Given the description of an element on the screen output the (x, y) to click on. 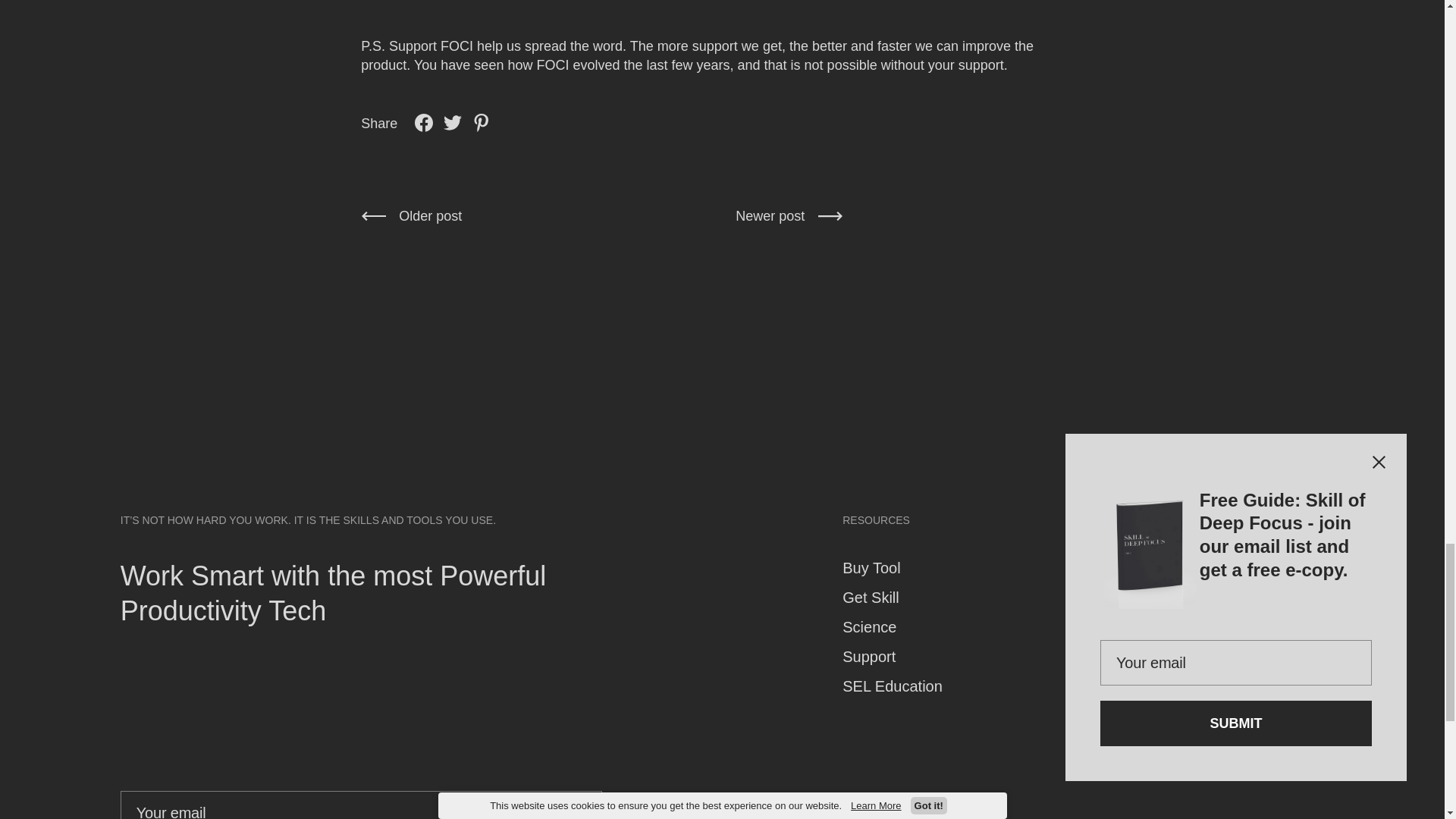
Newer post (789, 215)
Terms of Use (1128, 657)
Press kit (1112, 687)
Support (869, 657)
Get Skill (870, 598)
Science (869, 628)
Share on Twitter (452, 122)
News (1102, 568)
Older post (392, 215)
Newer post (789, 215)
Share on Facebook (423, 122)
Buy Tool (871, 568)
Share on Pinterest (481, 122)
About (1102, 598)
SEL Education (892, 687)
